Given the description of an element on the screen output the (x, y) to click on. 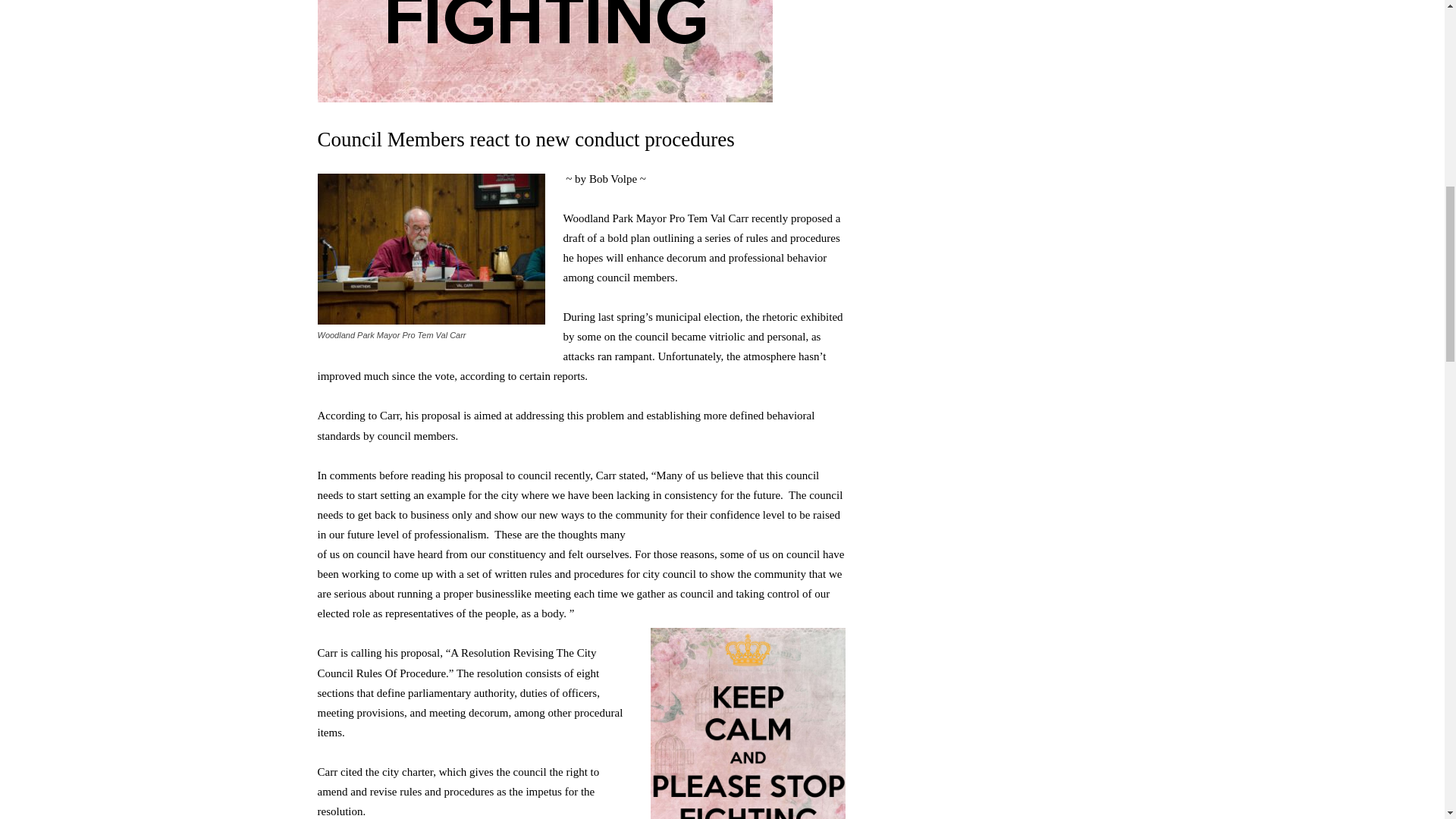
keep-calm-and-please-stop-fighting (544, 51)
